Given the description of an element on the screen output the (x, y) to click on. 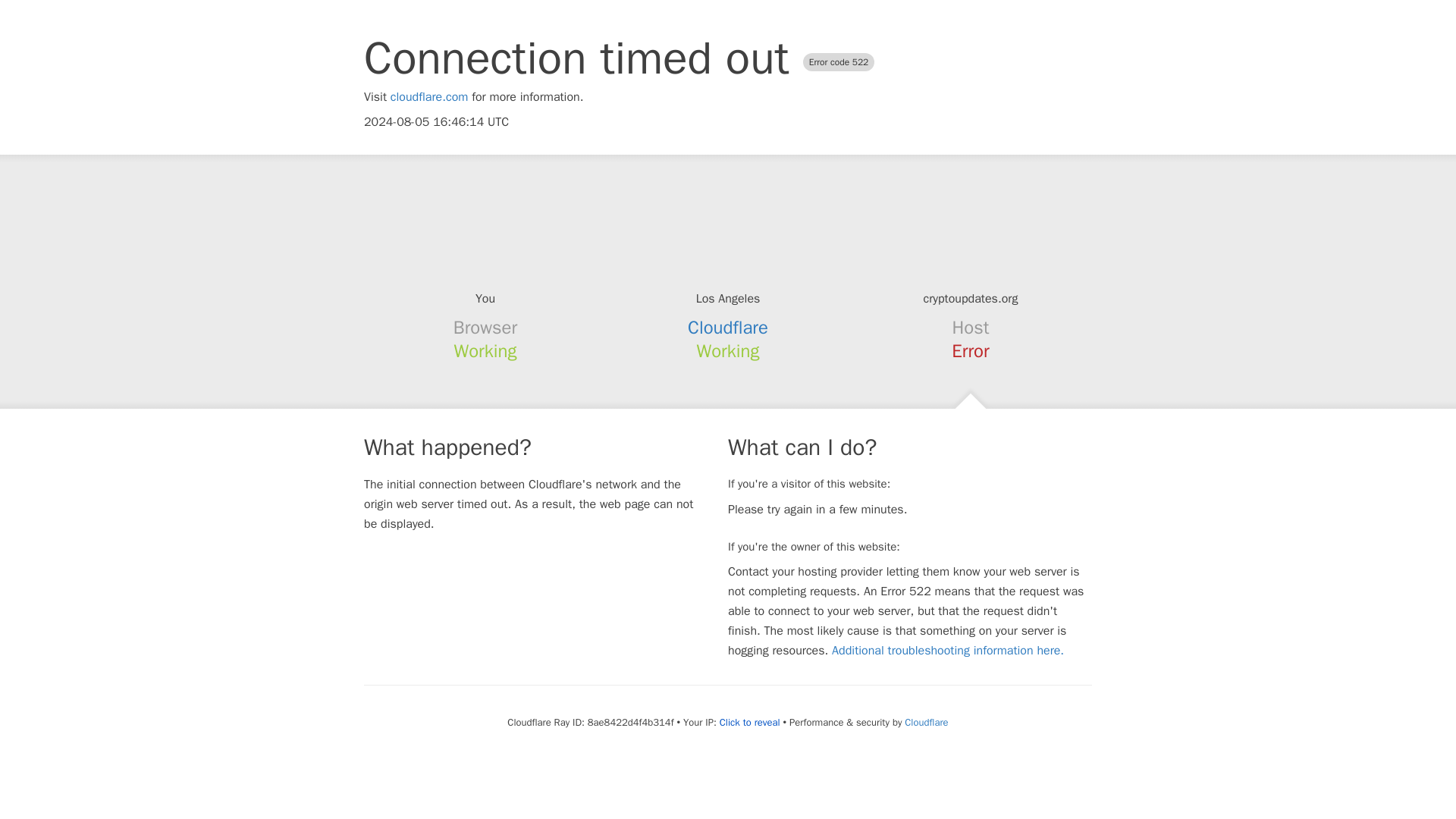
Additional troubleshooting information here. (947, 650)
Click to reveal (749, 722)
cloudflare.com (429, 96)
Cloudflare (925, 721)
Cloudflare (727, 327)
